Given the description of an element on the screen output the (x, y) to click on. 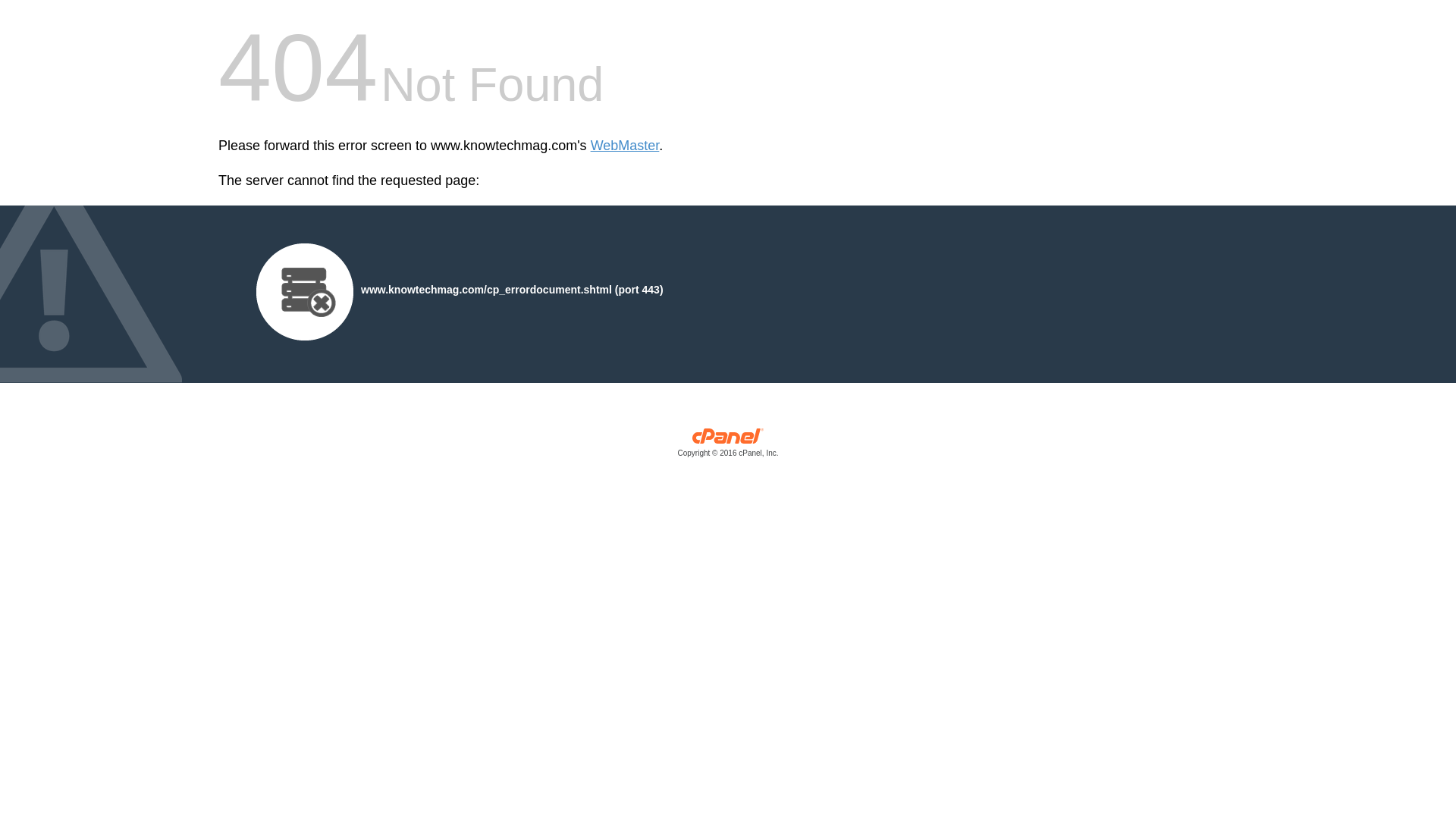
cPanel, Inc. (727, 446)
WebMaster (625, 145)
